Given the description of an element on the screen output the (x, y) to click on. 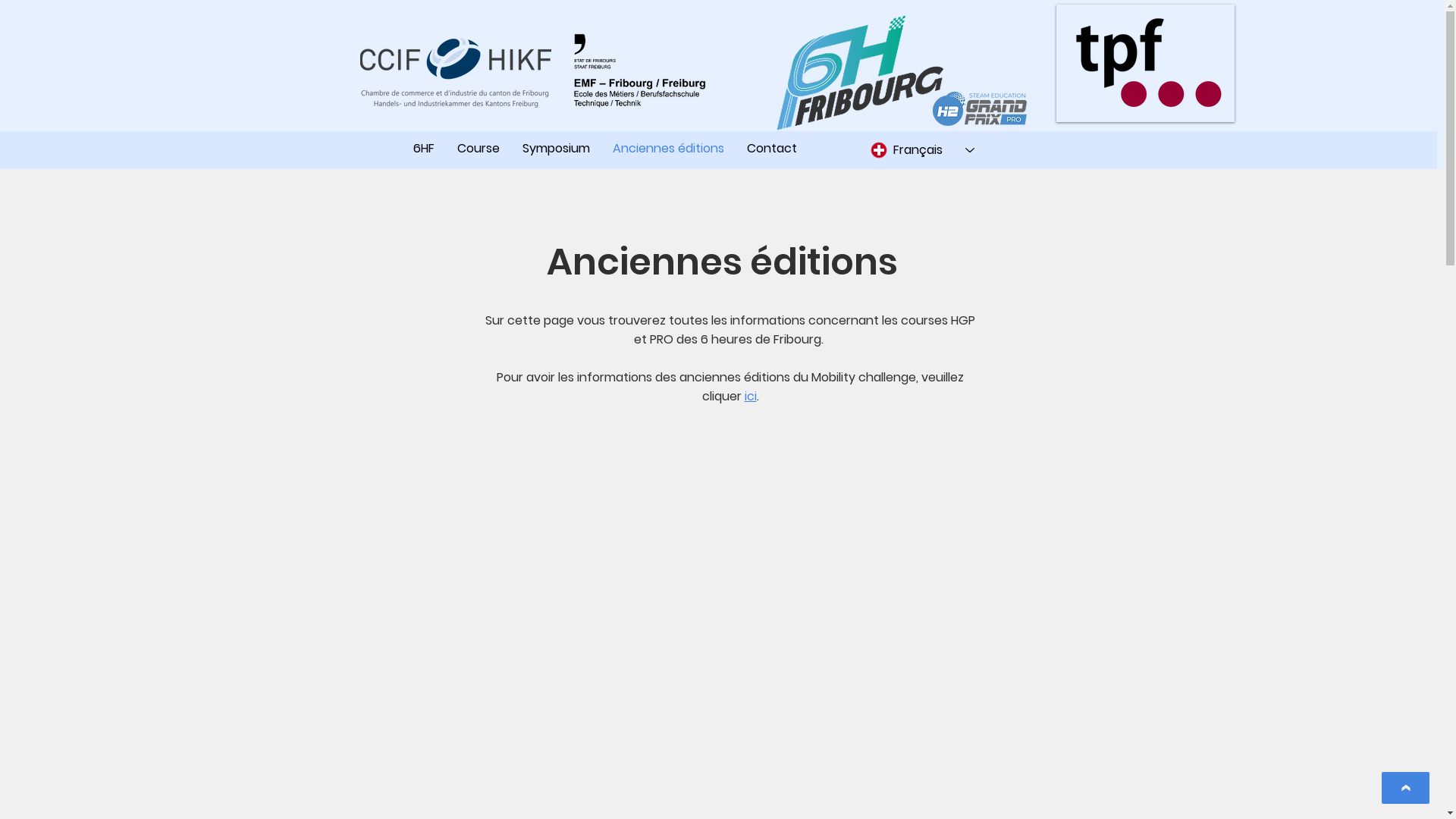
Symposium Element type: text (556, 148)
6HF Element type: text (423, 148)
Course Element type: text (478, 148)
ici Element type: text (750, 395)
Contact Element type: text (771, 148)
